Given the description of an element on the screen output the (x, y) to click on. 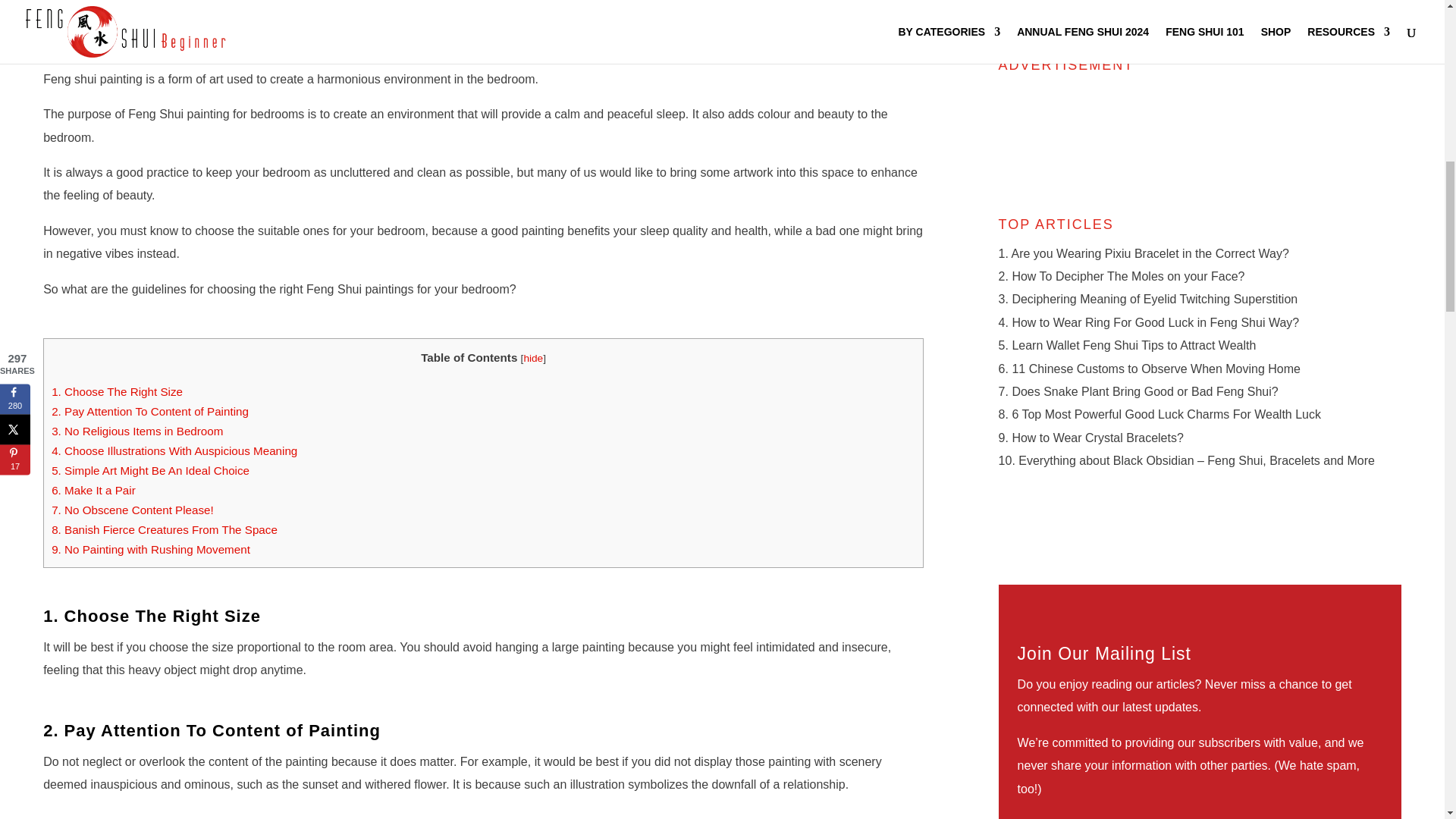
1. Choose The Right Size (116, 391)
2. Pay Attention To Content of Painting (149, 410)
hide (532, 357)
